Given the description of an element on the screen output the (x, y) to click on. 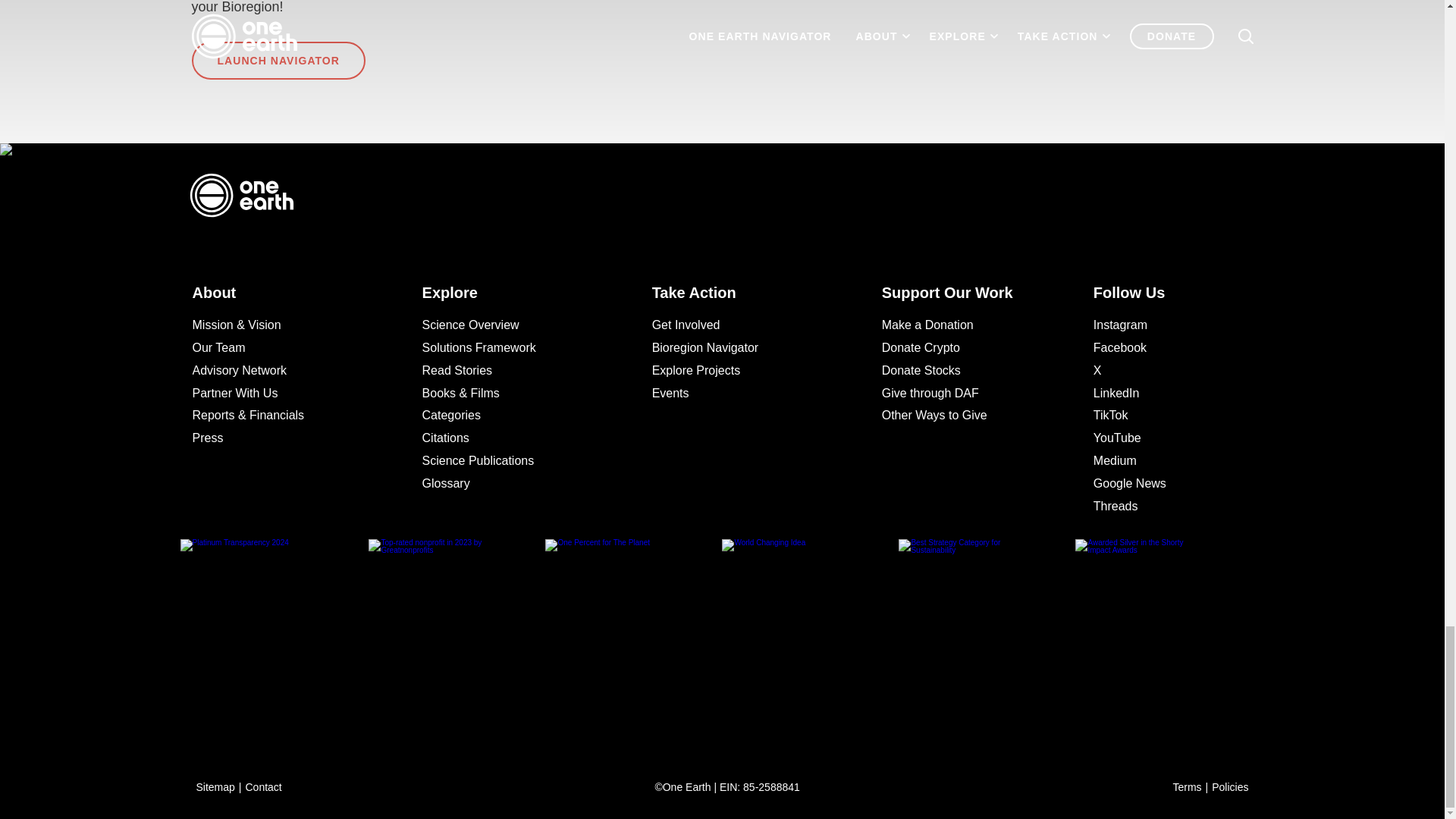
Google News (1163, 483)
Follow us on YouTube (1163, 437)
World Changing Idea (810, 633)
Follow us on Twitter (1163, 370)
Platinum Transparency 2024 (280, 633)
Follow us on Medium (1163, 460)
Top-rated nonprofit in 2023 by Greatnonprofits (456, 633)
Follow us on Instagram (1163, 324)
Follow us on Facebook (1163, 347)
Awarded Silver in the Shorty Impact Awards (1163, 633)
